Given the description of an element on the screen output the (x, y) to click on. 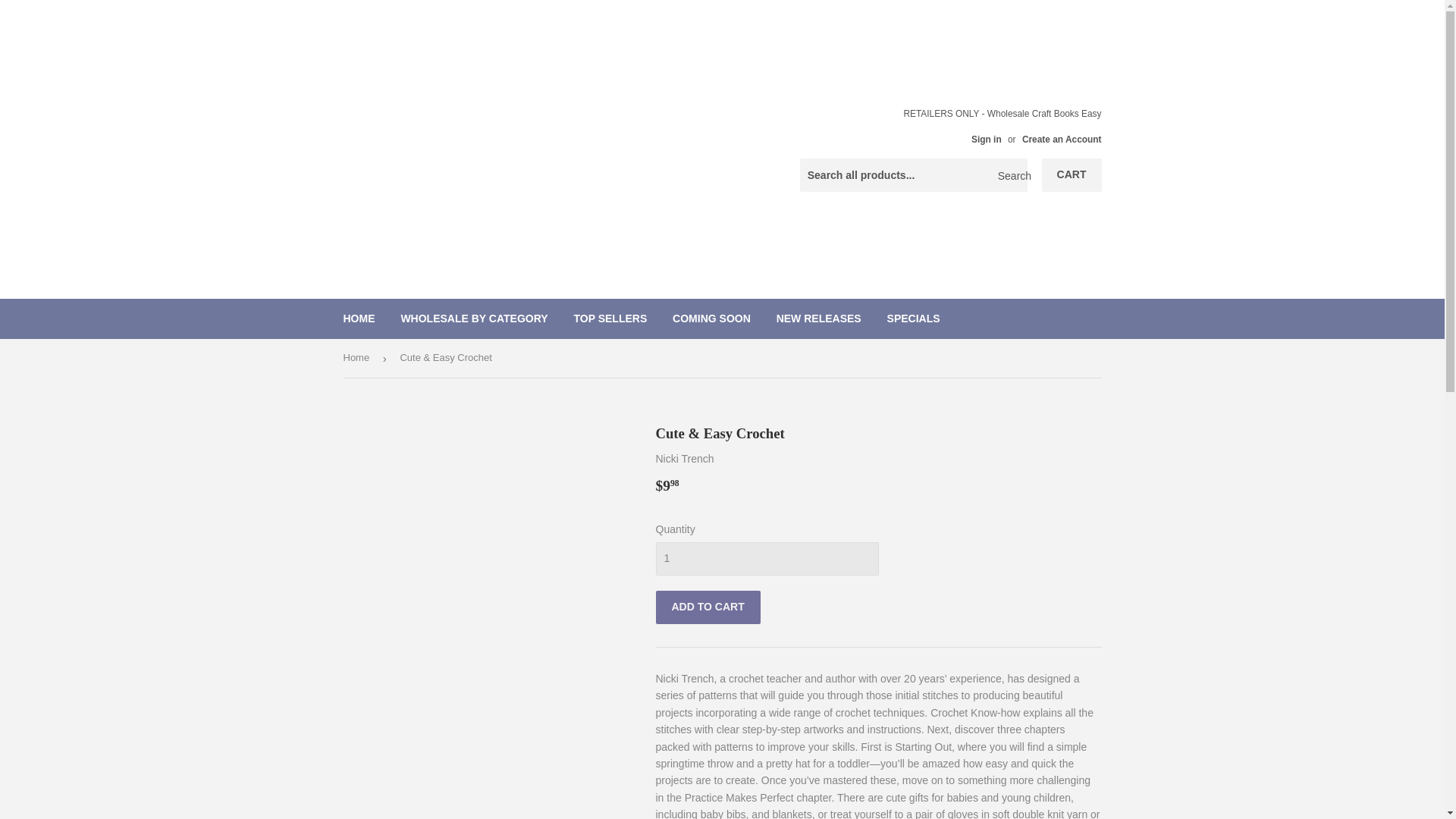
Back to the frontpage (358, 358)
SPECIALS (914, 318)
CART (1072, 174)
TOP SELLERS (610, 318)
WHOLESALE BY CATEGORY (473, 318)
Create an Account (1062, 139)
Home (358, 358)
Sign in (986, 139)
HOME (359, 318)
NEW RELEASES (818, 318)
1 (766, 558)
COMING SOON (711, 318)
Search (1009, 175)
ADD TO CART (707, 607)
